Given the description of an element on the screen output the (x, y) to click on. 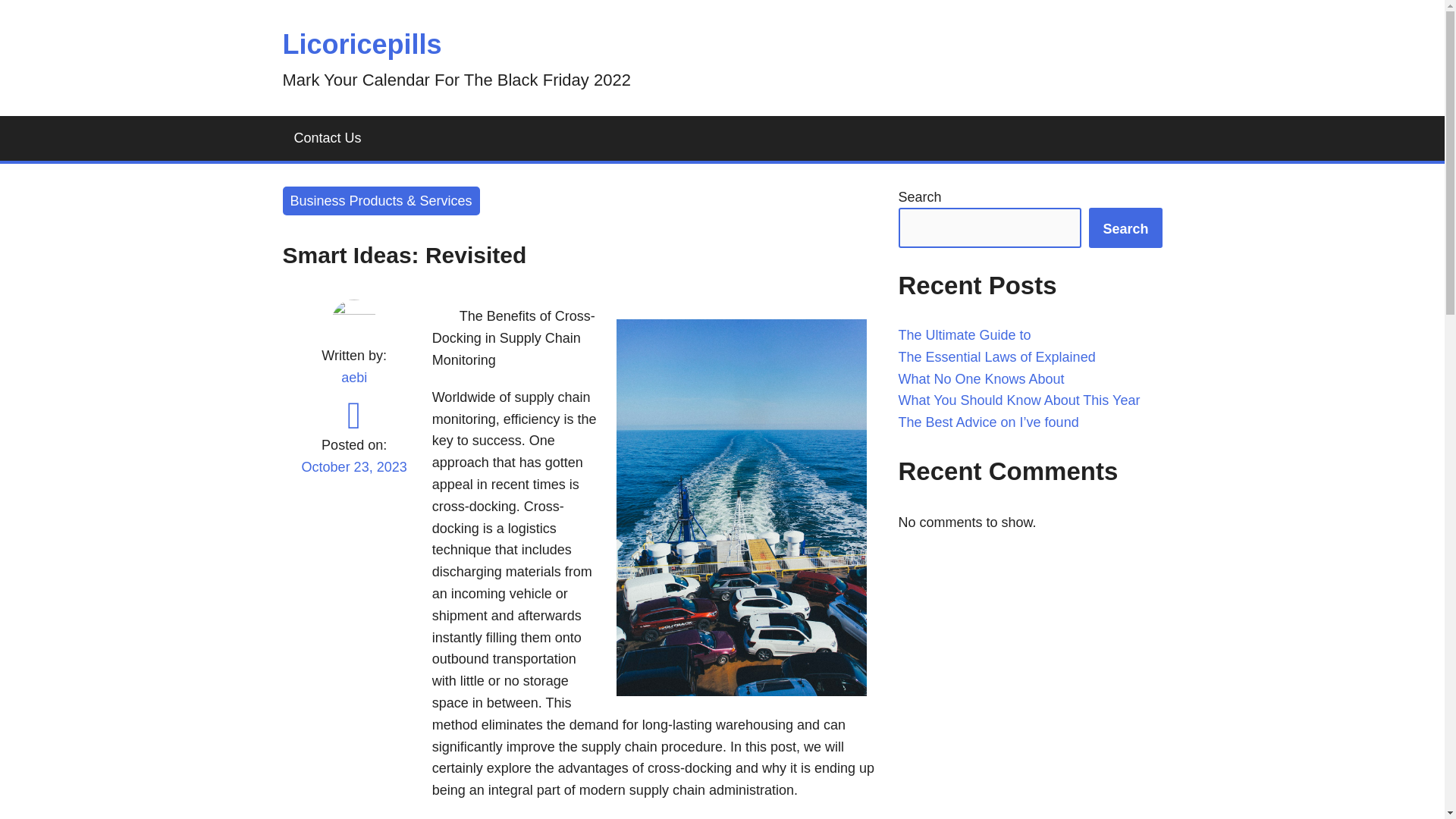
Contact Us (327, 138)
aebi (353, 377)
Search (1125, 228)
The Essential Laws of Explained (996, 356)
What No One Knows About (981, 378)
What You Should Know About This Year (1019, 400)
October 23, 2023 (353, 476)
Licoricepills (361, 43)
The Ultimate Guide to (964, 335)
